Given the description of an element on the screen output the (x, y) to click on. 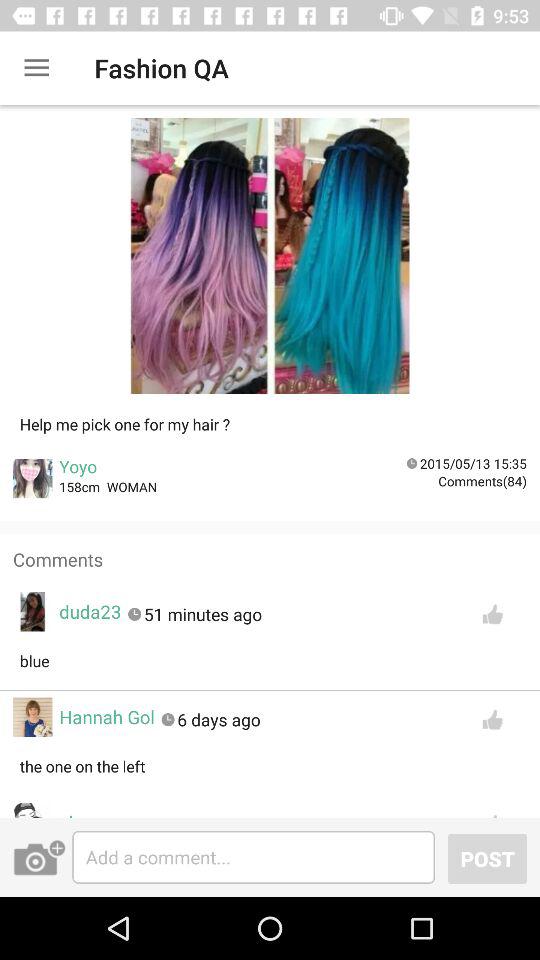
add a comment (253, 857)
